Given the description of an element on the screen output the (x, y) to click on. 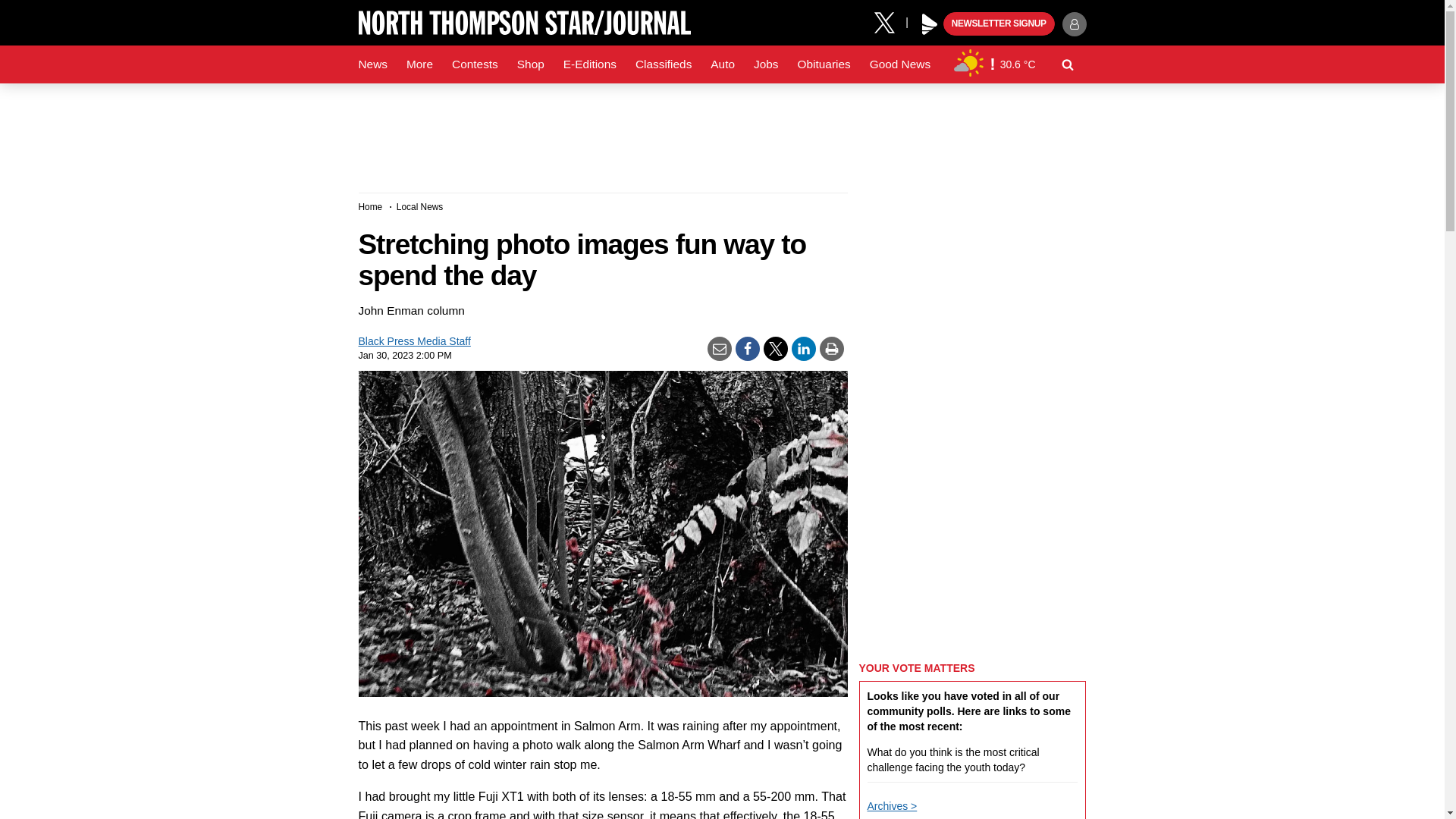
Play (929, 24)
3rd party ad content (721, 131)
Black Press Media (929, 24)
X (889, 21)
News (372, 64)
NEWSLETTER SIGNUP (998, 24)
